Given the description of an element on the screen output the (x, y) to click on. 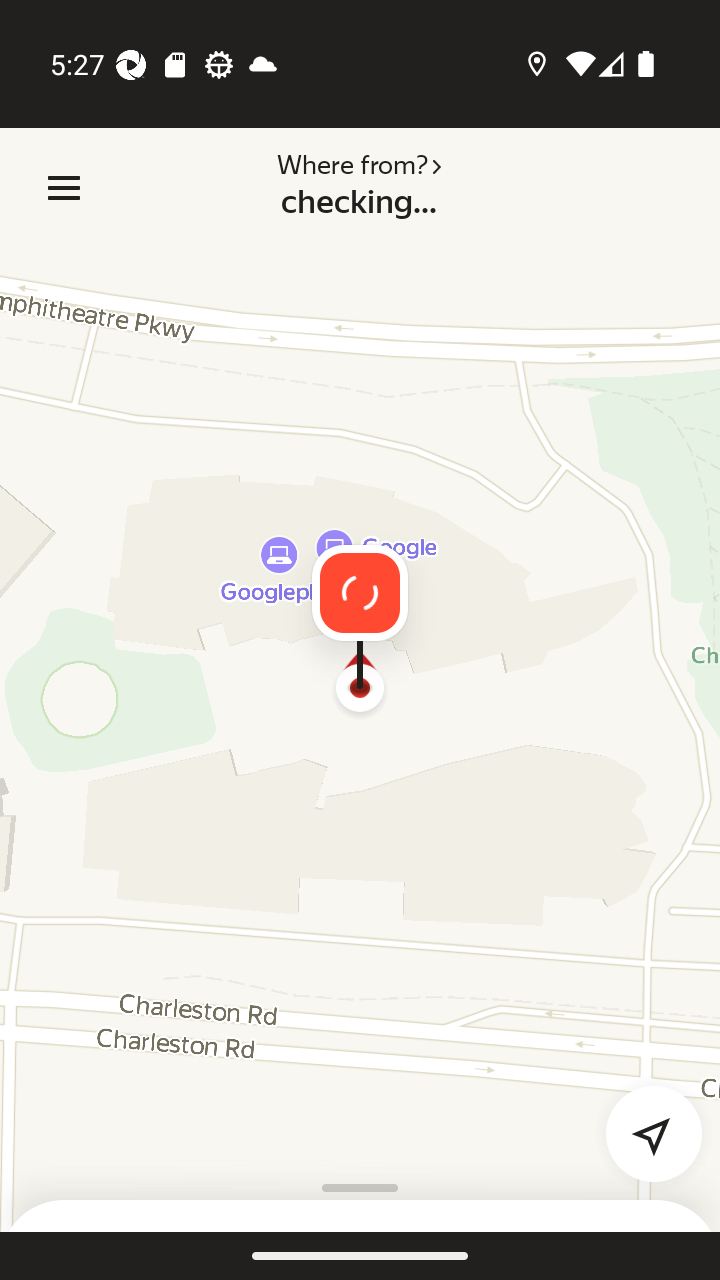
Menu Menu Menu (64, 188)
Detect my location (641, 1122)
